Given the description of an element on the screen output the (x, y) to click on. 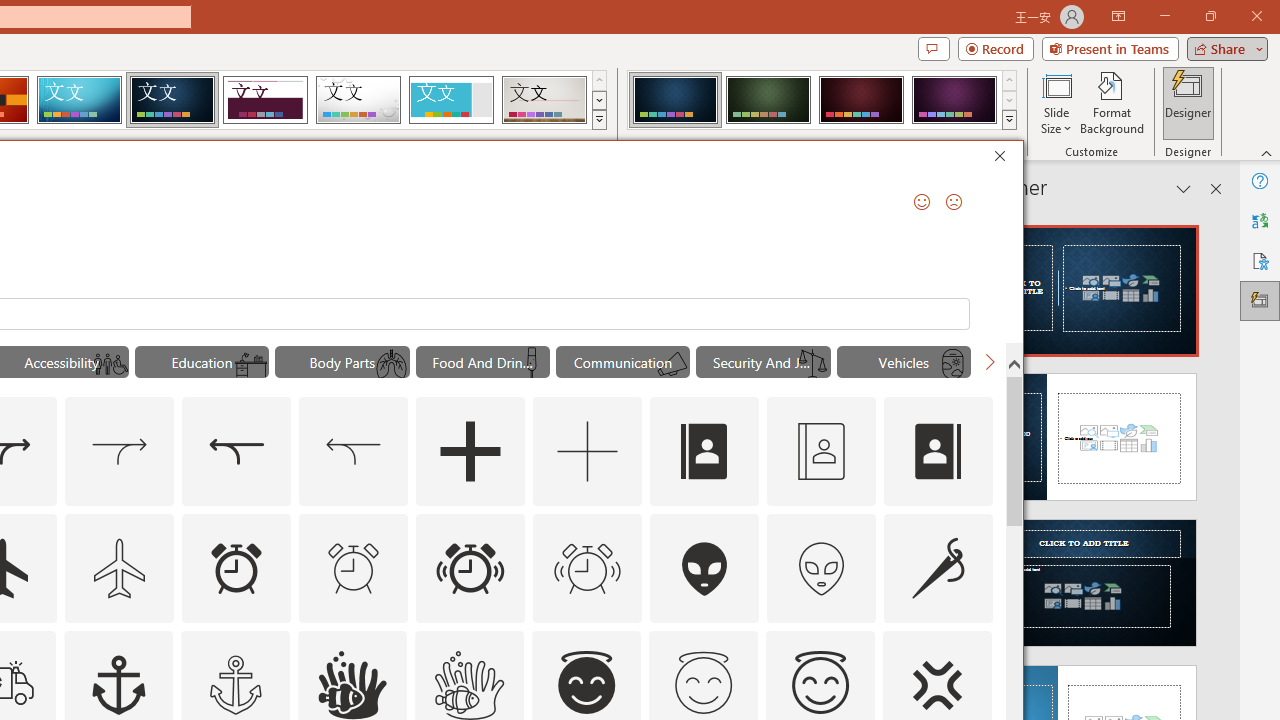
AutomationID: Icons_AlarmClock (236, 568)
Send a Smile (922, 201)
AutomationID: Icons_Lungs_M (391, 364)
AutomationID: Icons_AddressBook_LTR (705, 452)
Format Background (1111, 102)
AutomationID: Icons_AlterationsTailoring (938, 568)
"Body Parts" Icons. (342, 362)
